Given the description of an element on the screen output the (x, y) to click on. 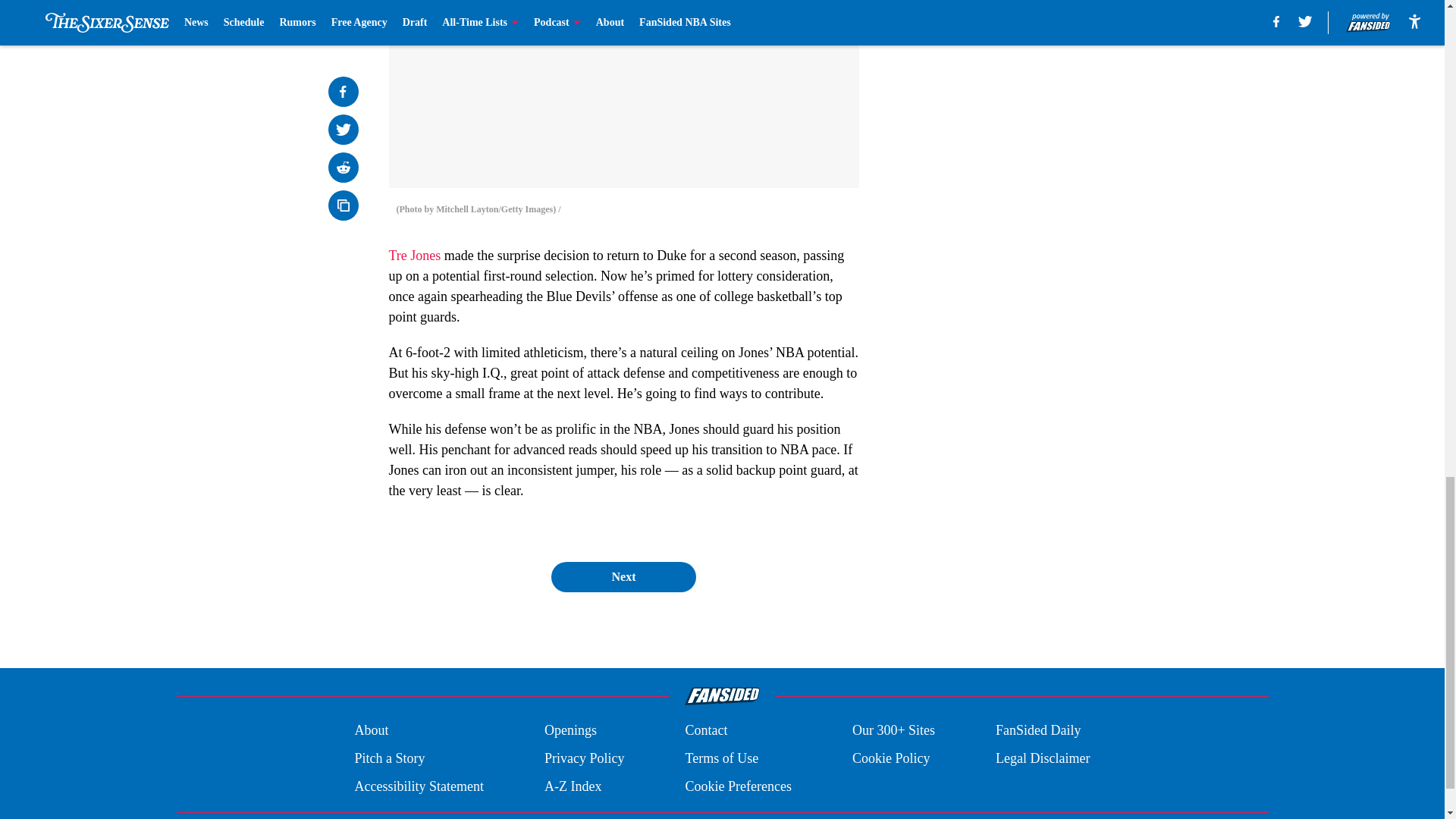
FanSided Daily (1038, 730)
Privacy Policy (584, 758)
Terms of Use (721, 758)
Pitch a Story (389, 758)
Contact (705, 730)
About (370, 730)
Next (622, 576)
Openings (570, 730)
Tre Jones (414, 255)
Cookie Policy (890, 758)
